Given the description of an element on the screen output the (x, y) to click on. 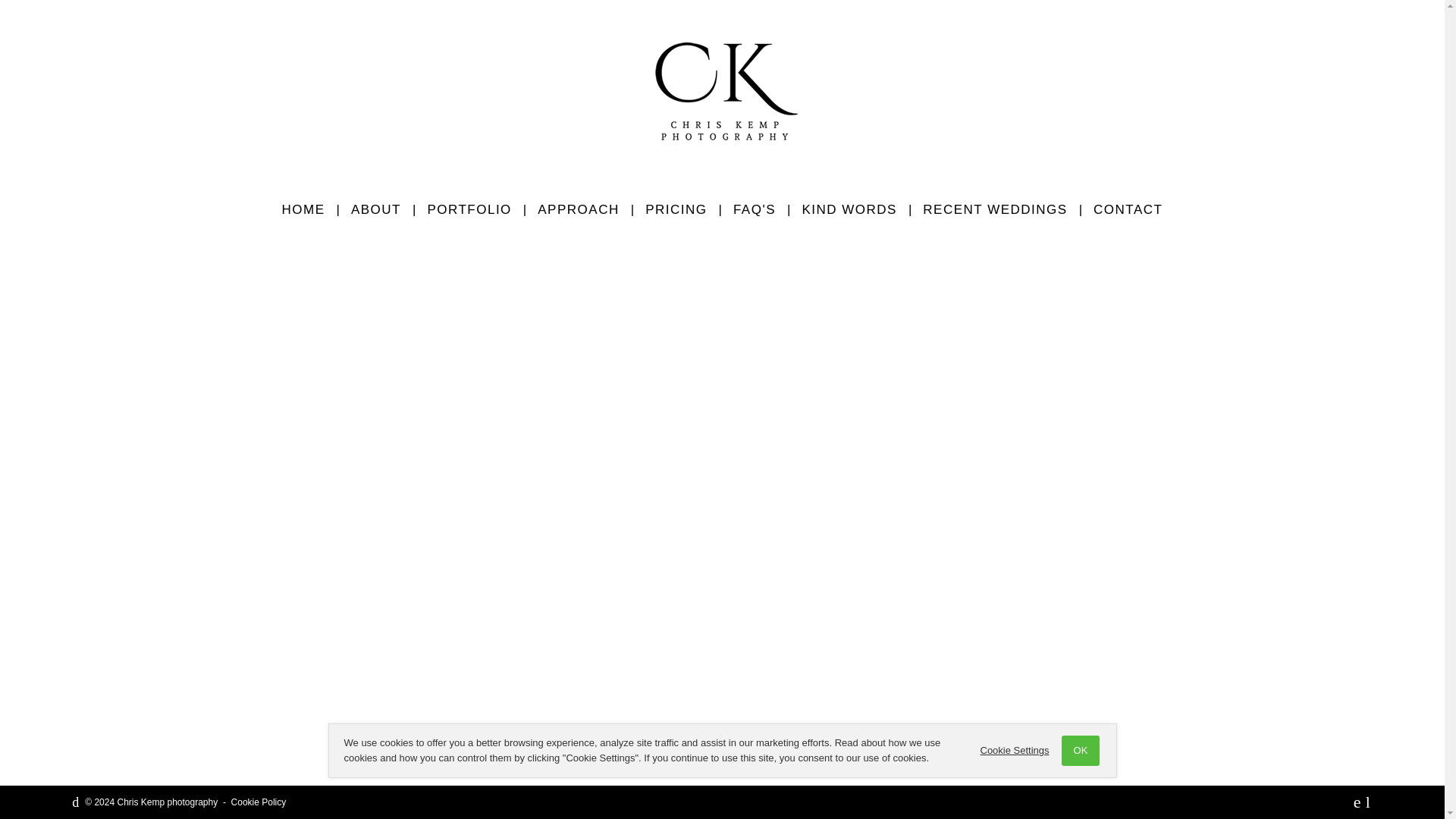
Cookie Policy (258, 801)
PORTFOLIO (468, 209)
FAQ'S (754, 209)
CONTACT (1127, 209)
RECENT WEDDINGS (994, 209)
Cookie Settings (1014, 750)
ABOUT (375, 209)
KIND WORDS (849, 209)
APPROACH (577, 209)
PRICING (675, 209)
Chris Kemp photography (721, 94)
OK (1080, 750)
HOME (303, 209)
